Given the description of an element on the screen output the (x, y) to click on. 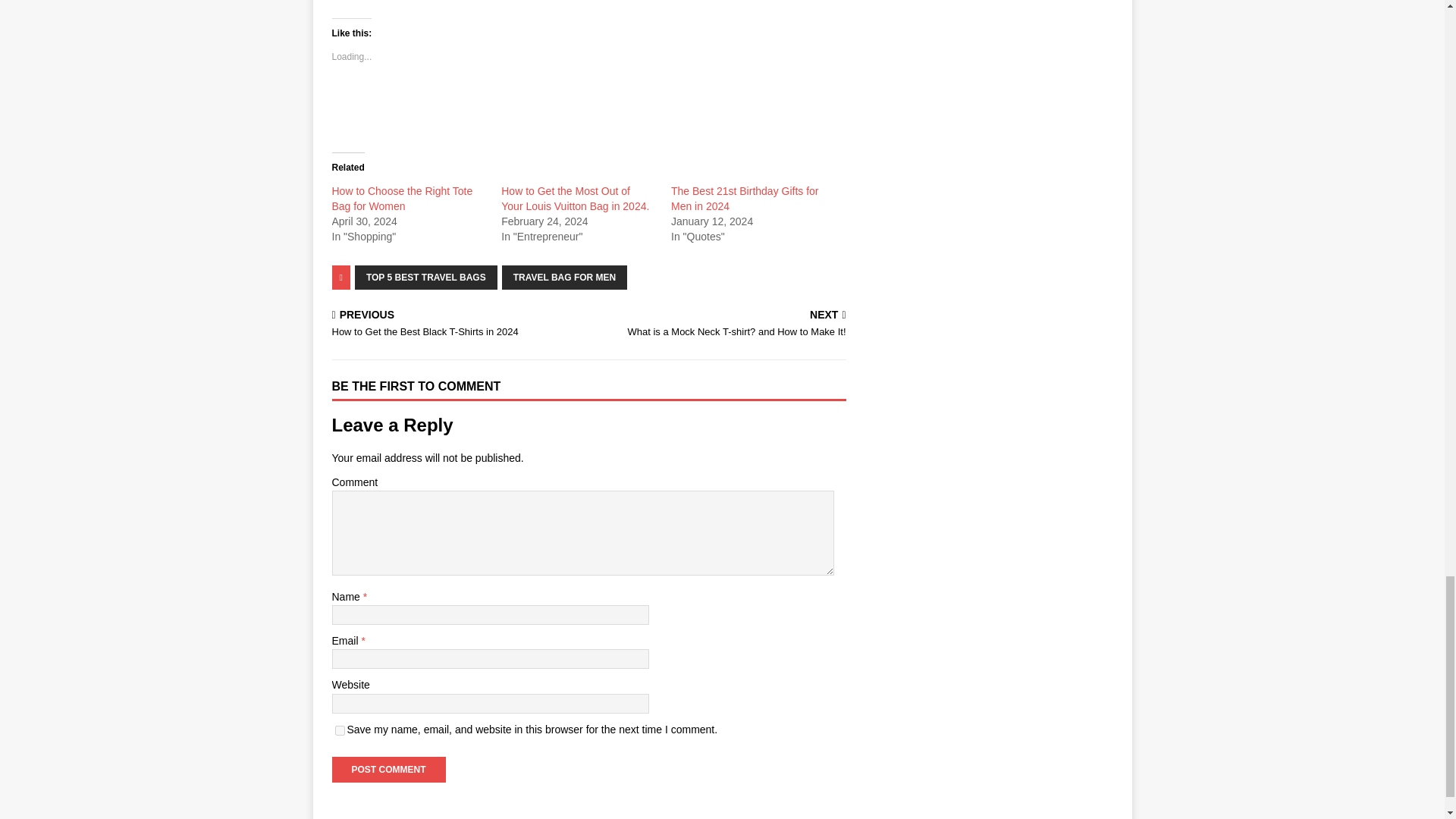
Like or Reblog (588, 110)
Post Comment (388, 769)
The Best 21st Birthday Gifts for Men in 2024 (744, 198)
How to Get the Most Out of Your Louis Vuitton Bag in 2024. (574, 198)
yes (339, 730)
How to Choose the Right Tote Bag for Women (402, 198)
